Given the description of an element on the screen output the (x, y) to click on. 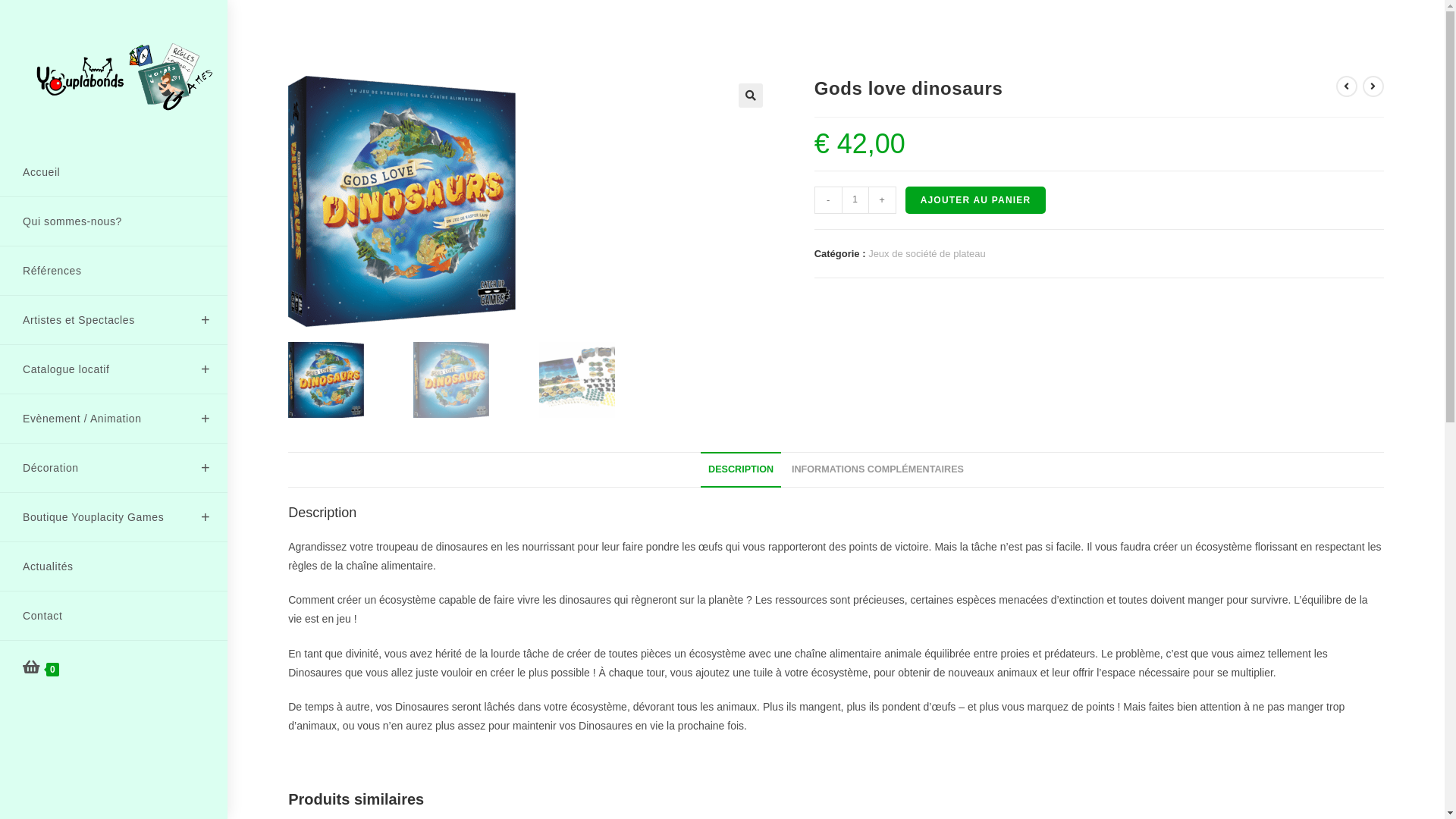
[01671] GODS LOVE DINOSAURS Element type: hover (883, 200)
Accueil Element type: text (113, 171)
[01671] GODS LOVE DINOSAURS Element type: hover (401, 200)
DESCRIPTION Element type: text (740, 469)
+ Element type: text (882, 199)
Artistes et Spectacles Element type: text (113, 319)
Qui sommes-nous? Element type: text (113, 221)
0 Element type: text (113, 667)
AJOUTER AU PANIER Element type: text (975, 199)
Catalogue locatif Element type: text (113, 369)
- Element type: text (827, 199)
Contact Element type: text (113, 615)
Boutique Youplacity Games Element type: text (113, 516)
